Given the description of an element on the screen output the (x, y) to click on. 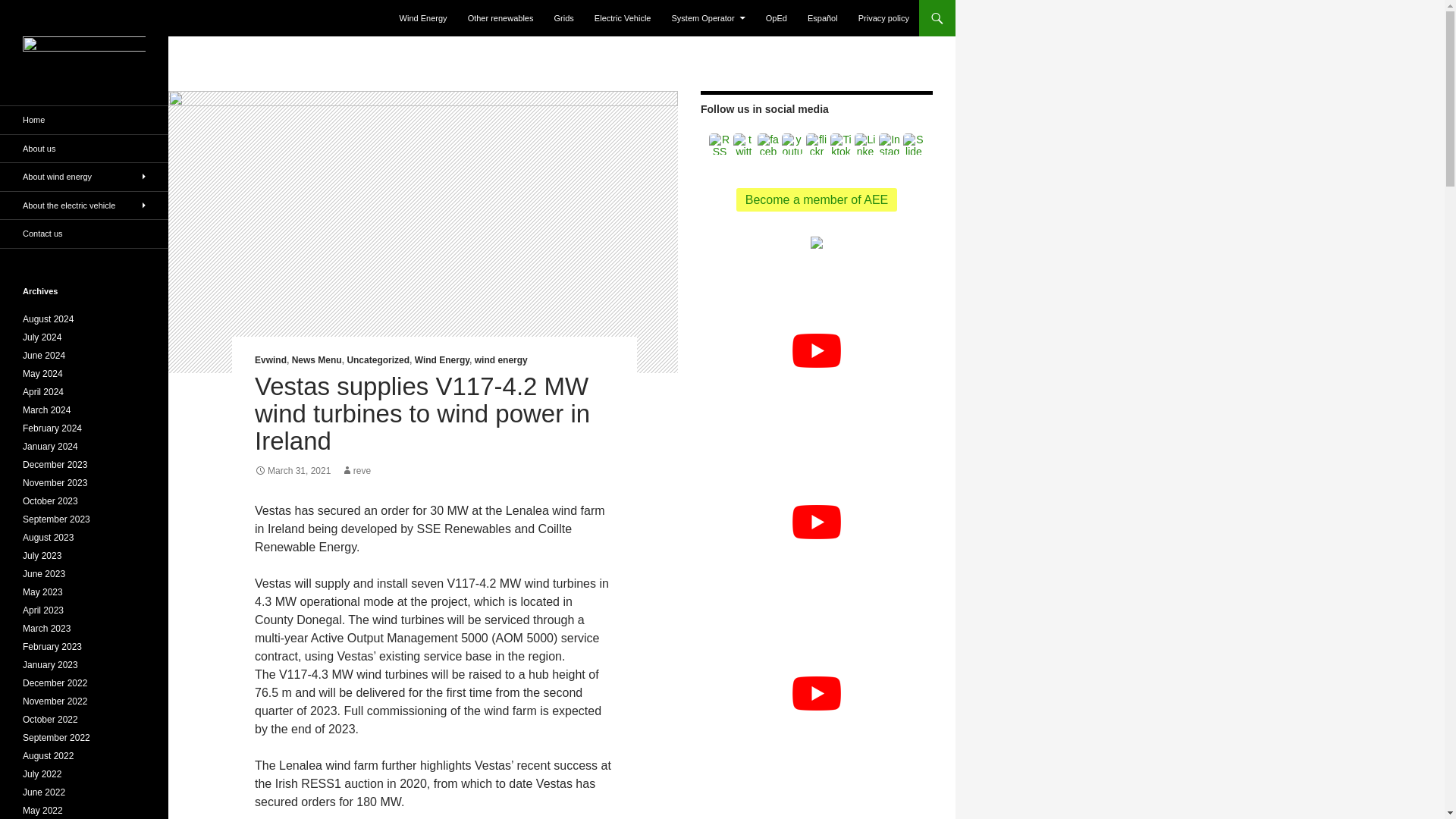
flickr (816, 143)
March 31, 2021 (292, 470)
youtube (792, 143)
Privacy policy (883, 18)
twitter (743, 143)
Wind Energy (441, 359)
News Menu (317, 359)
Tiktok (840, 143)
OpEd (776, 18)
Grids (563, 18)
